Given the description of an element on the screen output the (x, y) to click on. 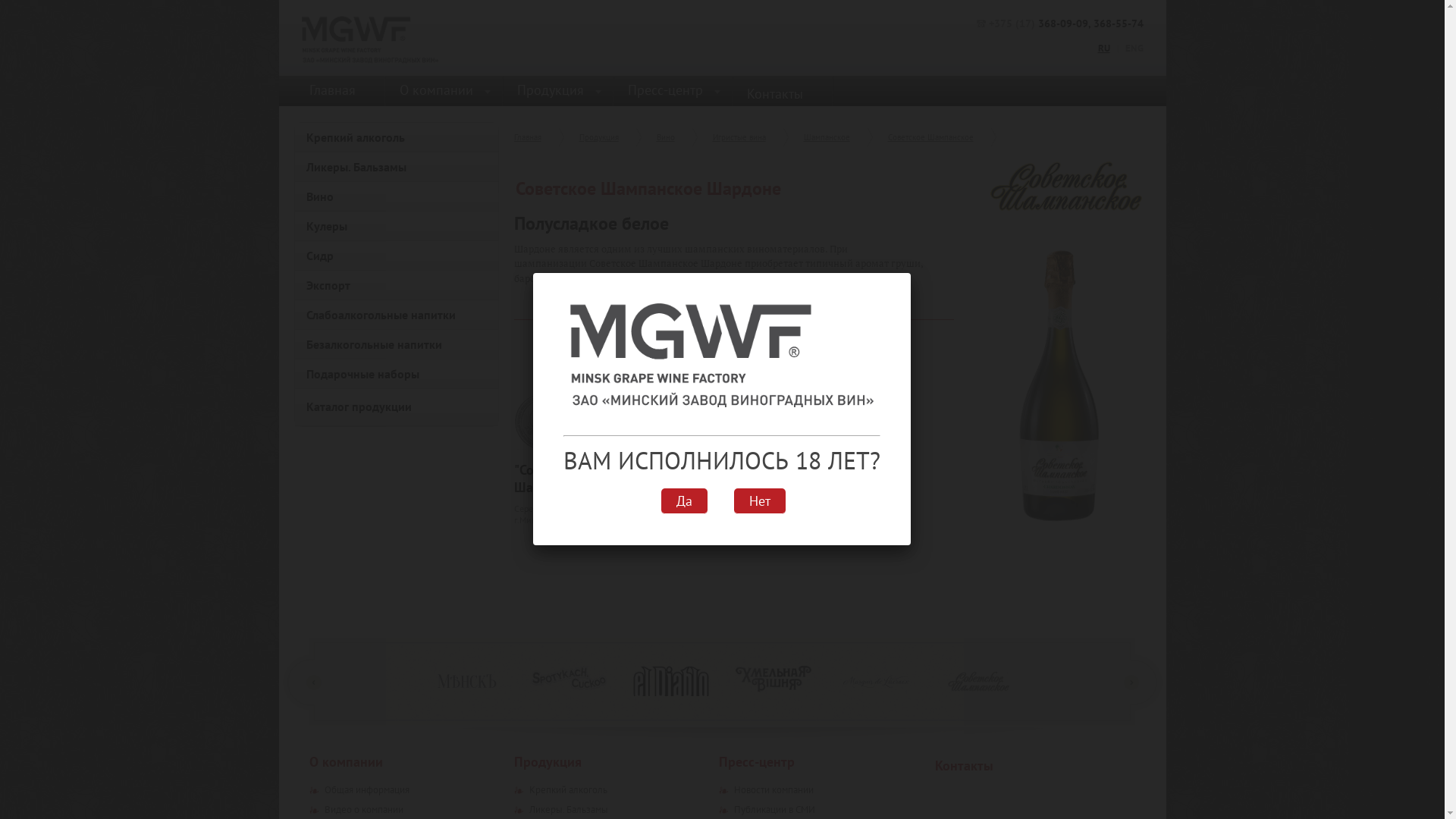
368-09-09 Element type: text (1062, 23)
ENG Element type: text (1130, 47)
RU Element type: text (1107, 47)
368-55-74 Element type: text (1118, 23)
